Given the description of an element on the screen output the (x, y) to click on. 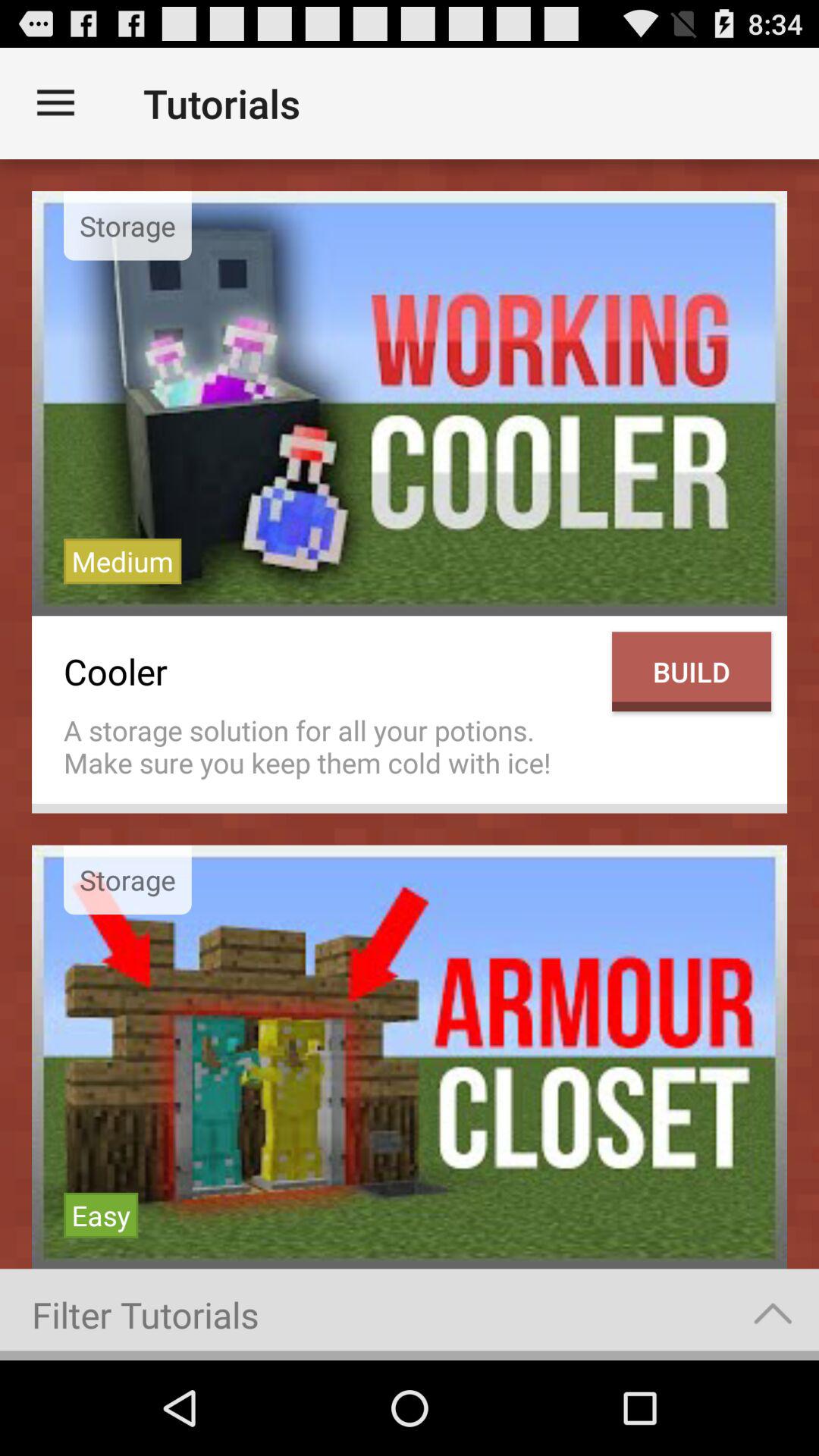
select the icon to the left of build item (329, 671)
